Given the description of an element on the screen output the (x, y) to click on. 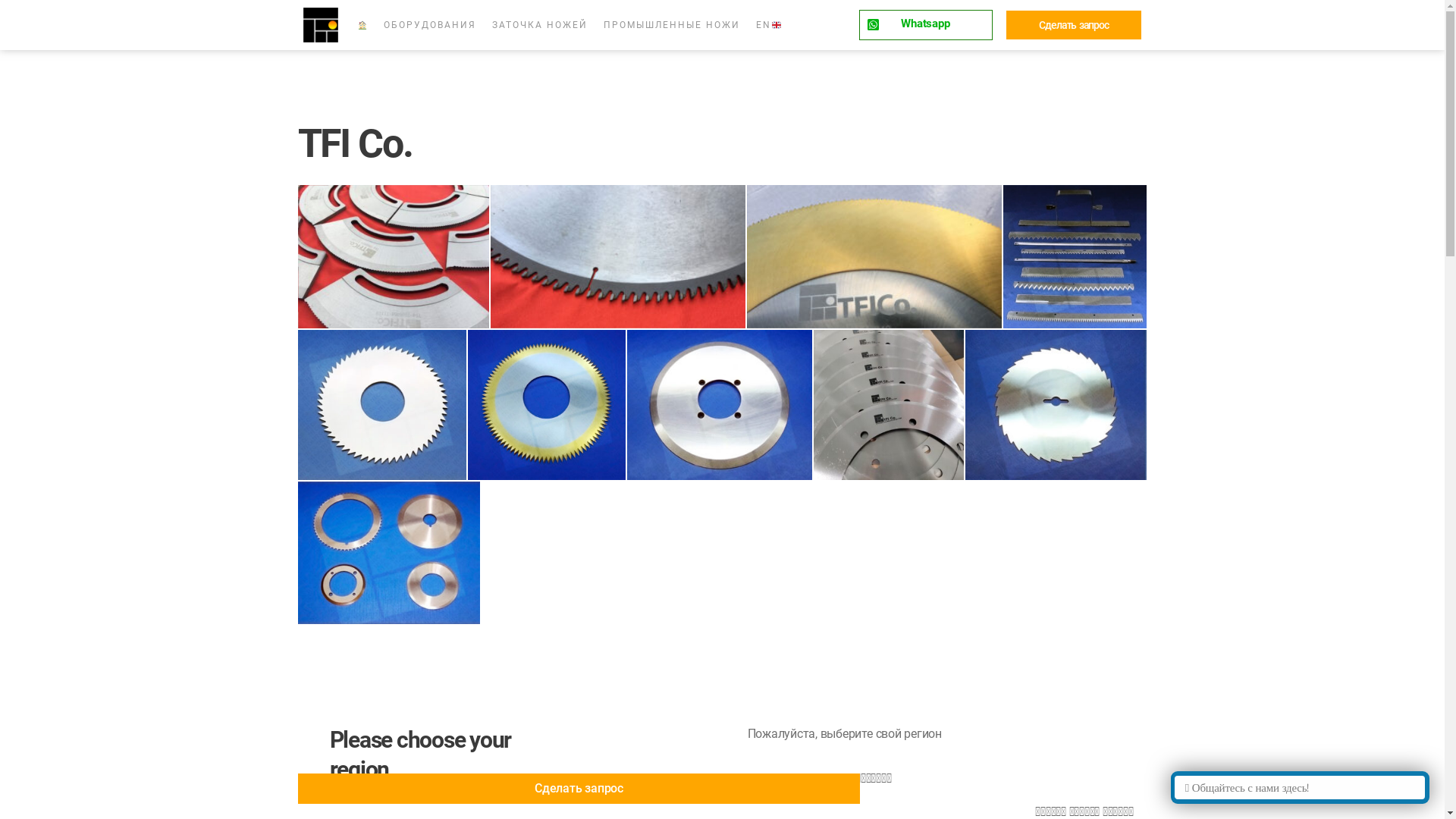
EN Element type: text (768, 24)
Whatsapp Element type: text (925, 24)
